Given the description of an element on the screen output the (x, y) to click on. 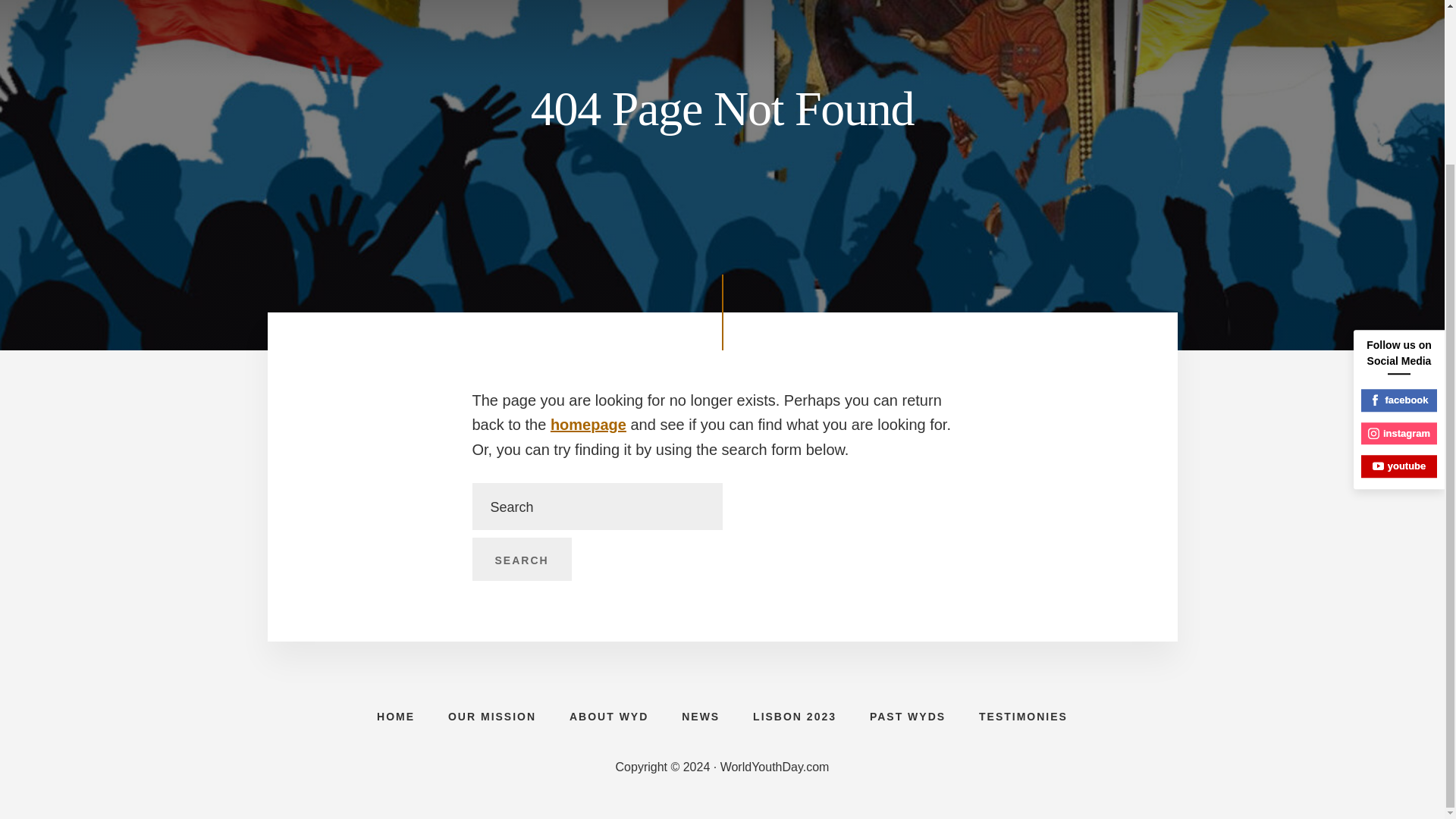
HOME (395, 716)
instagram (1399, 237)
Search (520, 559)
LISBON 2023 (794, 716)
Search (520, 559)
ABOUT WYD (608, 716)
OUR MISSION (491, 716)
Search (520, 559)
NEWS (700, 716)
youtube (1399, 270)
